Given the description of an element on the screen output the (x, y) to click on. 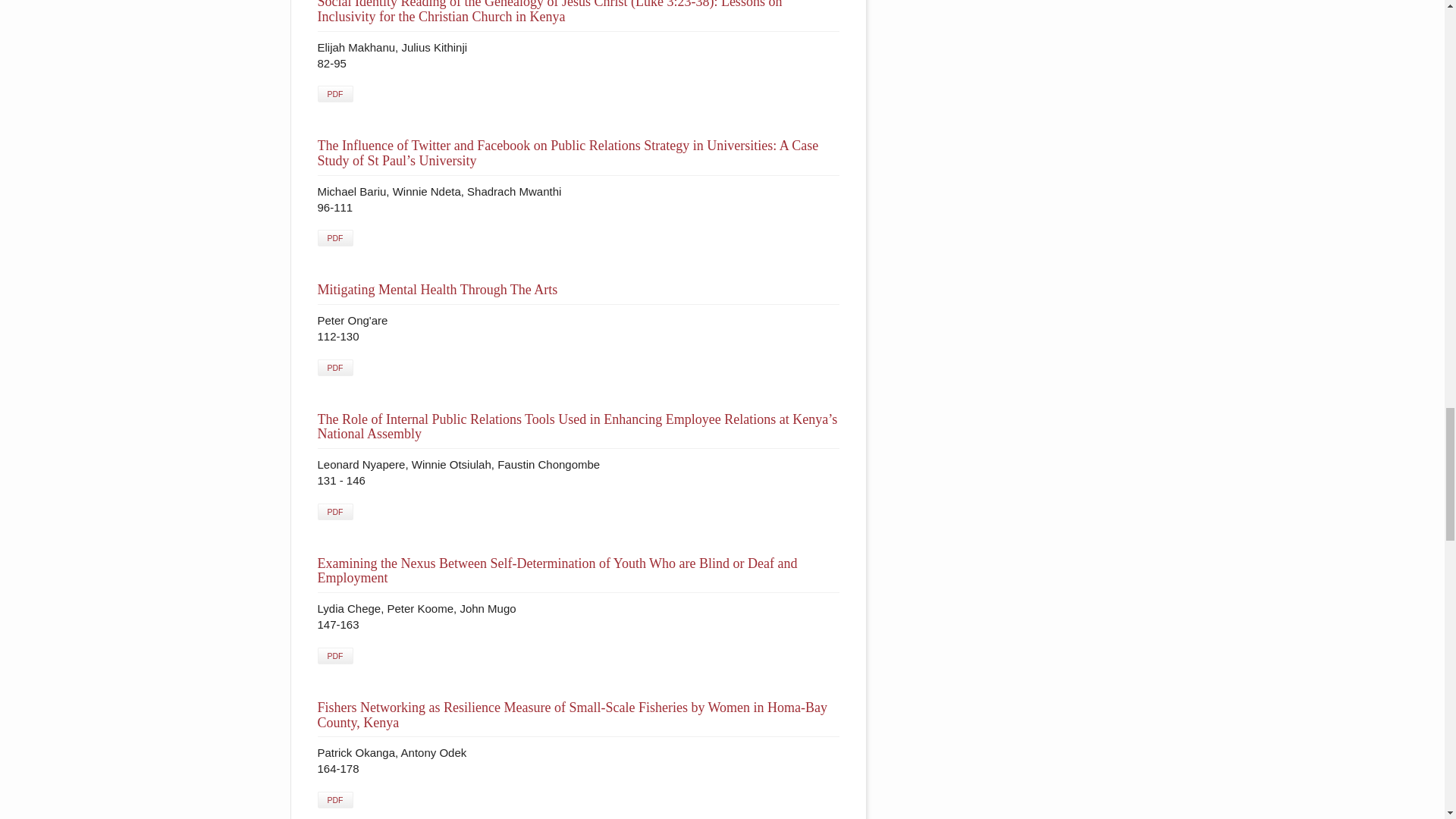
PDF (334, 511)
Mitigating Mental Health Through The Arts (437, 289)
PDF (334, 238)
PDF (334, 367)
PDF (334, 93)
